Given the description of an element on the screen output the (x, y) to click on. 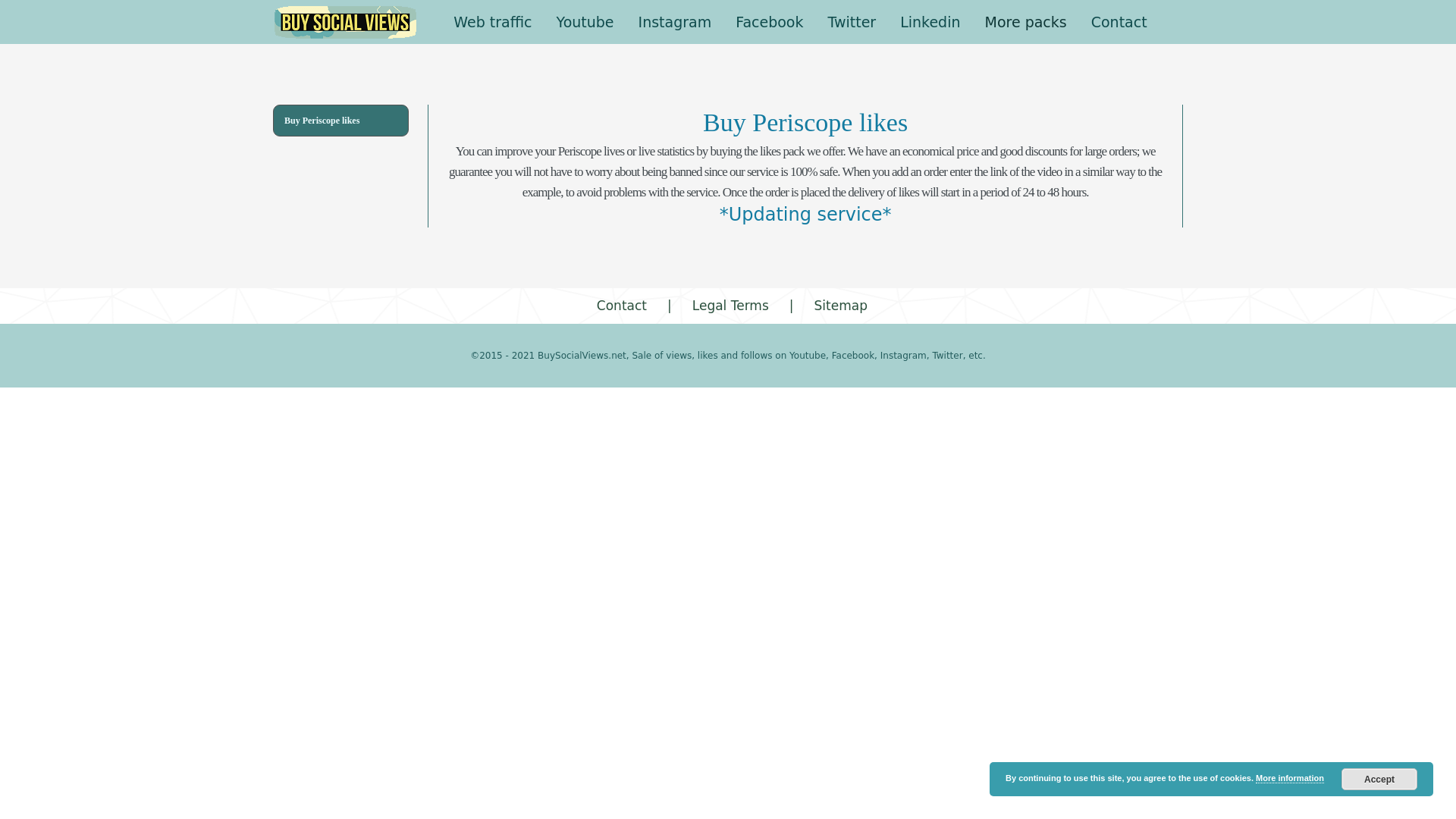
Instagram (674, 21)
Facebook (769, 21)
Youtube (585, 21)
Linkedin (930, 21)
More packs (1025, 21)
Web traffic (492, 21)
Twitter (851, 21)
Buy social views (345, 22)
